Given the description of an element on the screen output the (x, y) to click on. 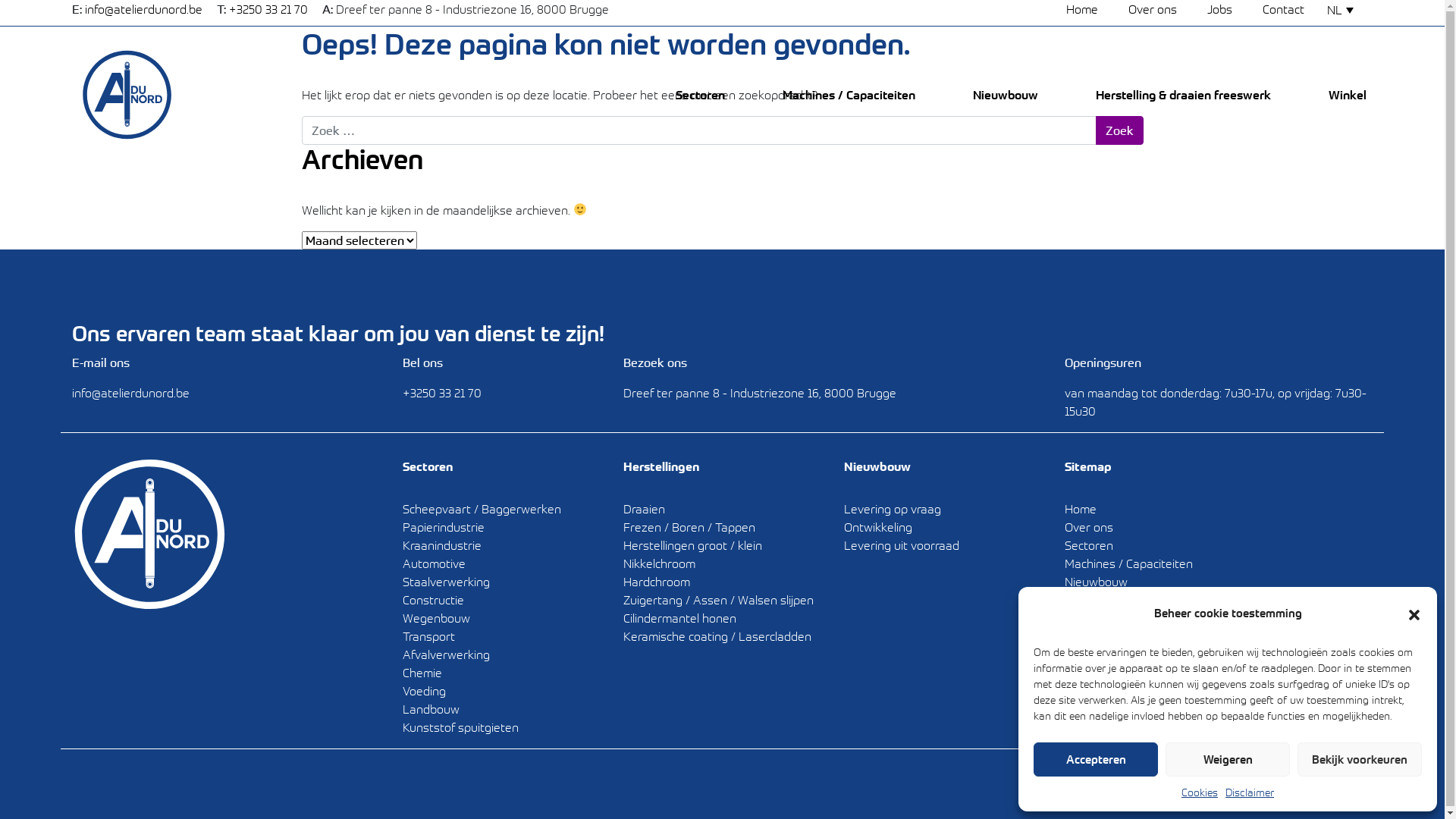
Sectoren Element type: text (1088, 544)
Constructie Element type: text (433, 599)
info@atelierdunord.be Element type: text (143, 8)
Nieuwbouw Element type: text (1005, 94)
Kraanindustrie Element type: text (441, 544)
Chemie Element type: text (422, 672)
Hardchroom Element type: text (656, 581)
Ga naar de inhoud Element type: text (1443, 0)
Transport Element type: text (428, 635)
Zuigertang / Assen / Walsen slijpen Element type: text (718, 599)
NL Element type: text (1345, 9)
Herstelling & draaien freeswerk Element type: text (1183, 94)
Cilindermantel honen Element type: text (679, 617)
Voeding Element type: text (423, 690)
cookies Element type: text (1147, 782)
Levering op vraag Element type: text (892, 508)
Scheepvaart / Baggerwerken Element type: text (481, 508)
info@atelierdunord.be Element type: text (130, 392)
Nieuwbouw Element type: text (1095, 581)
Machines / Capaciteiten Element type: text (1128, 563)
Jobs Element type: text (1076, 617)
Landbouw Element type: text (430, 708)
Accepteren Element type: text (1095, 759)
Zoek Element type: text (1118, 130)
Weigeren Element type: text (1227, 759)
Bekijk voorkeuren Element type: text (1359, 759)
Kunststof spuitgieten Element type: text (460, 726)
Afvalverwerking Element type: text (445, 654)
Ontwikkeling Element type: text (878, 526)
Machines / Capaciteiten Element type: text (848, 94)
Automotive Element type: text (433, 563)
Home Element type: text (1080, 508)
+3250 33 21 70 Element type: text (268, 8)
Frezen / Boren / Tappen Element type: text (689, 526)
+3250 33 21 70 Element type: text (441, 392)
Herstellingen groot / klein Element type: text (692, 544)
Wegenbouw Element type: text (436, 617)
Staalverwerking Element type: text (445, 581)
disclaimer Element type: text (1092, 782)
Draaien Element type: text (644, 508)
Herstelling & draaien freeswerk Element type: text (1148, 599)
Disclaimer Element type: text (1249, 792)
Contact Element type: text (1085, 635)
Cookies Element type: text (1199, 792)
Nikkelchroom Element type: text (659, 563)
Levering uit voorraad Element type: text (901, 544)
Winkel Element type: text (1347, 94)
Papierindustrie Element type: text (443, 526)
Sectoren Element type: text (700, 94)
website laten maken door wcreate Element type: text (1274, 782)
Keramische coating / Lasercladden Element type: text (717, 635)
Over ons Element type: text (1088, 526)
